Given the description of an element on the screen output the (x, y) to click on. 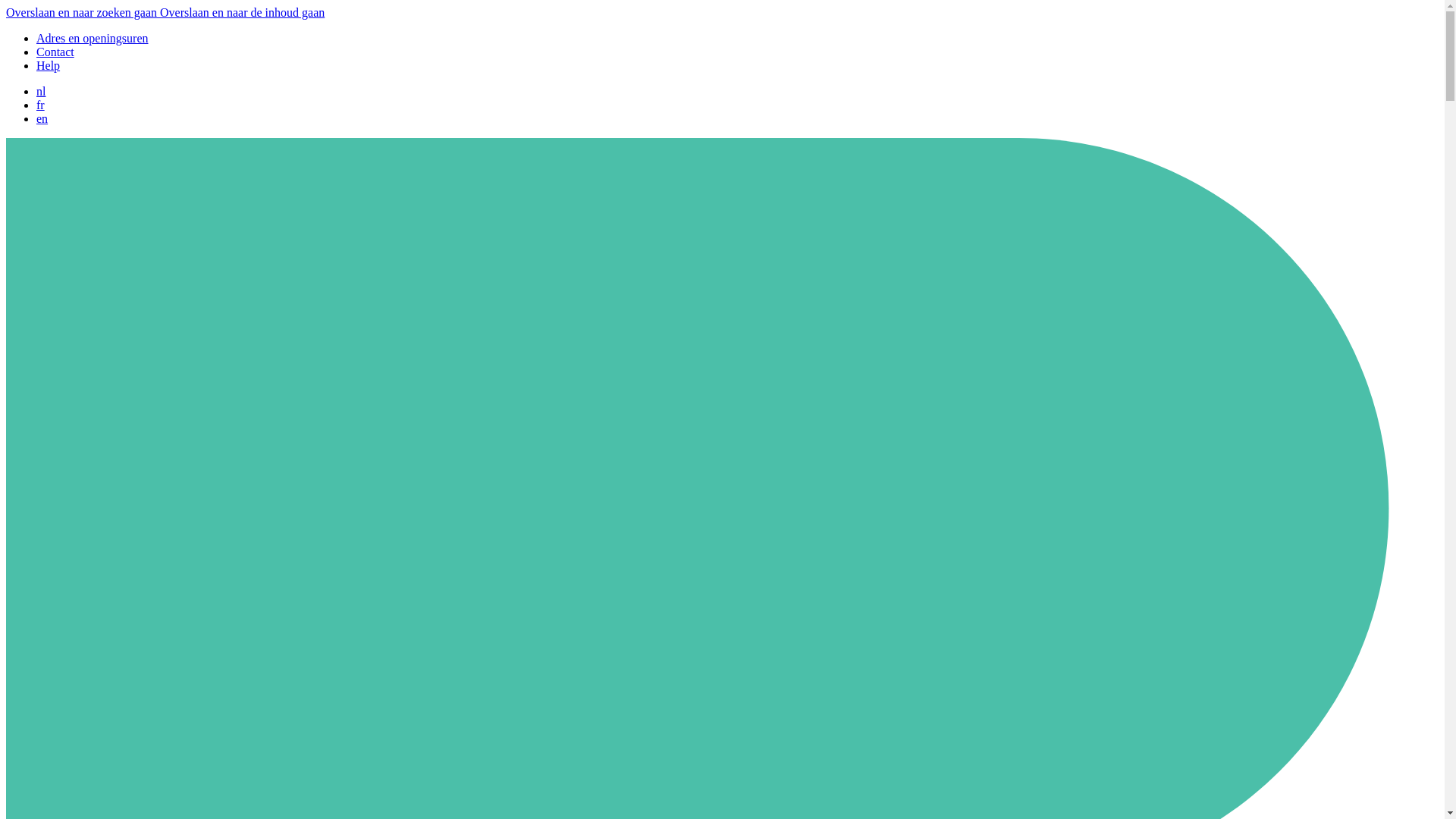
en Element type: text (41, 118)
Contact Element type: text (55, 51)
Help Element type: text (47, 65)
Adres en openingsuren Element type: text (92, 37)
nl Element type: text (40, 90)
Overslaan en naar de inhoud gaan Element type: text (242, 12)
Overslaan en naar zoeken gaan Element type: text (83, 12)
fr Element type: text (40, 104)
